Given the description of an element on the screen output the (x, y) to click on. 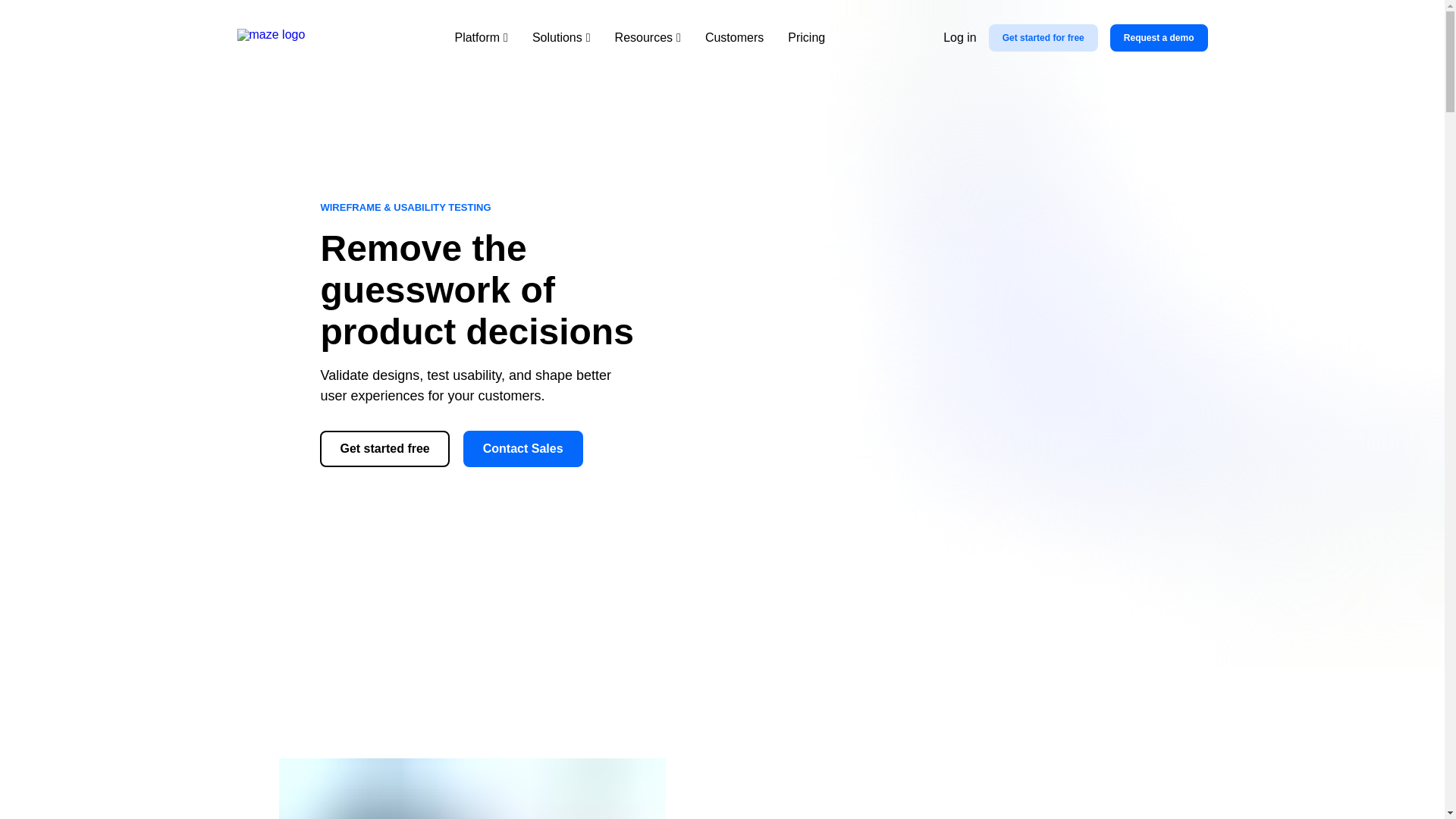
Customers (733, 37)
Maze (285, 37)
Pricing (806, 37)
